Given the description of an element on the screen output the (x, y) to click on. 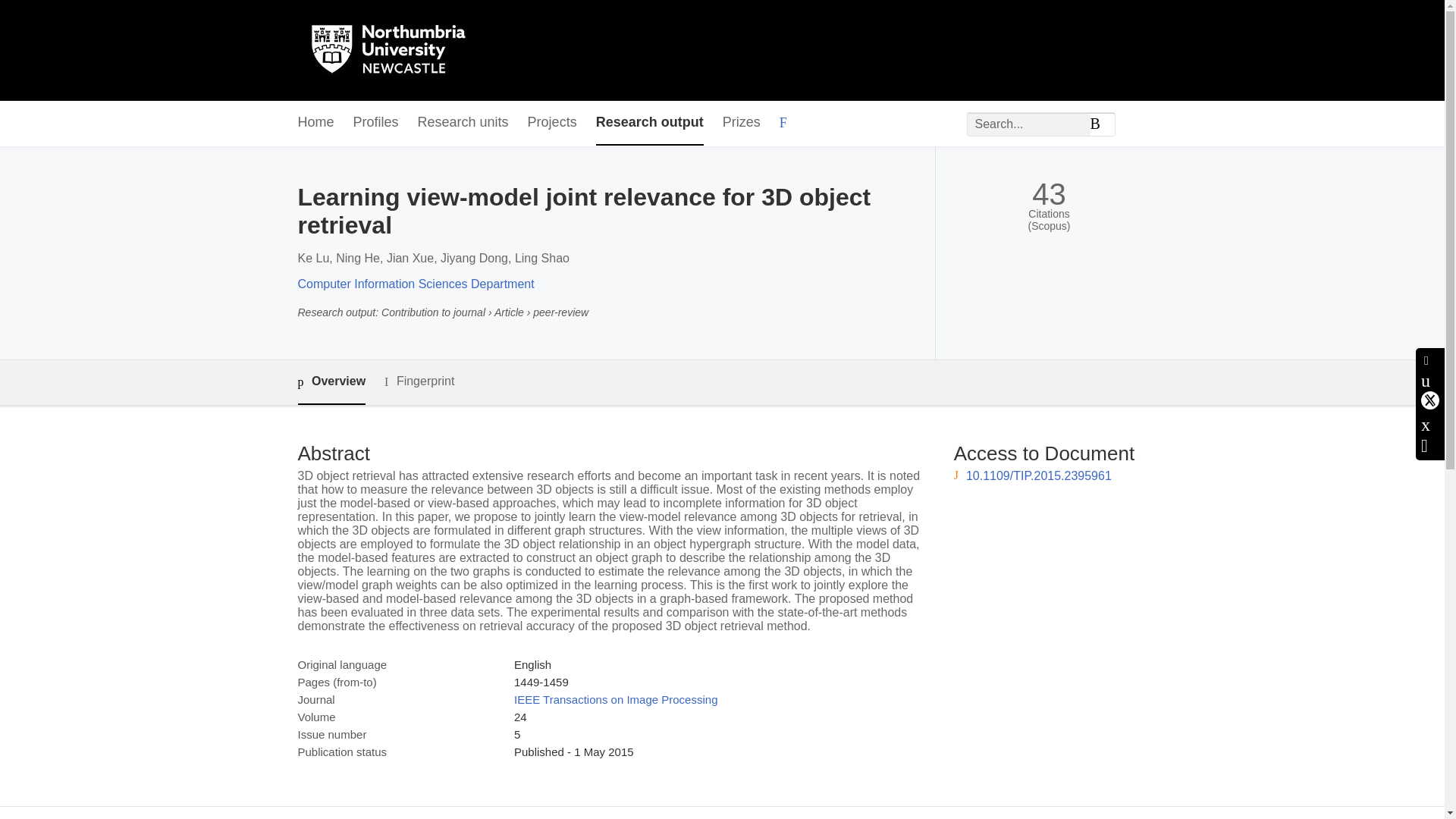
Overview (331, 382)
Northumbria University Research Portal Home (398, 50)
Research output (649, 122)
IEEE Transactions on Image Processing (615, 698)
Projects (551, 122)
Fingerprint (419, 381)
Research units (462, 122)
Computer Information Sciences Department (415, 283)
Profiles (375, 122)
